Given the description of an element on the screen output the (x, y) to click on. 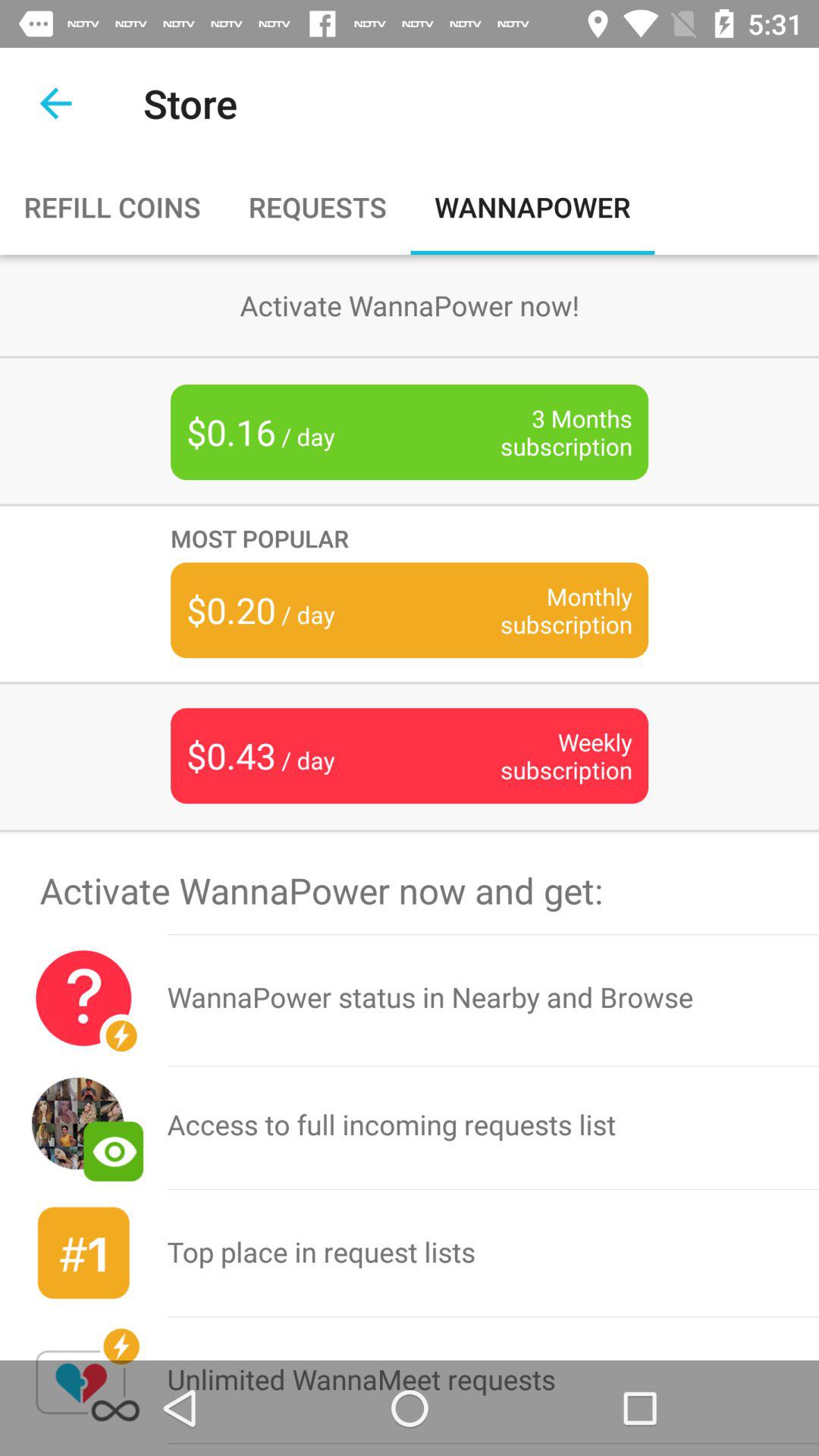
turn on the icon above the weekly subscription item (543, 610)
